Given the description of an element on the screen output the (x, y) to click on. 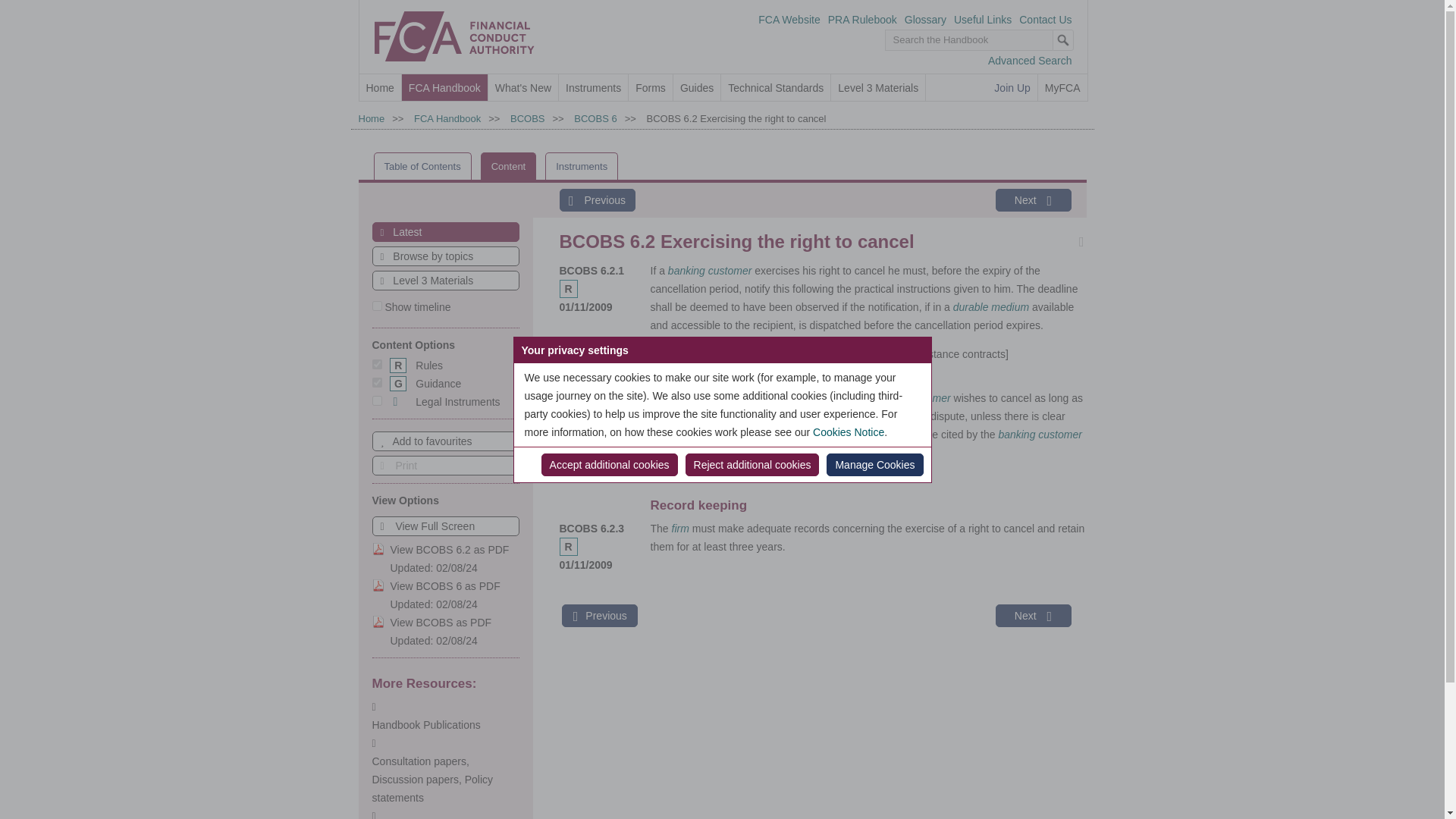
Search (1063, 39)
Navigate one page forwards (1032, 200)
Previous (596, 200)
print (444, 465)
Toggle guidance sections on and off (425, 383)
legal (376, 400)
Browse by topics (445, 256)
guidance table-guide (376, 382)
Navigate one page backwards (596, 200)
Home (371, 118)
